Given the description of an element on the screen output the (x, y) to click on. 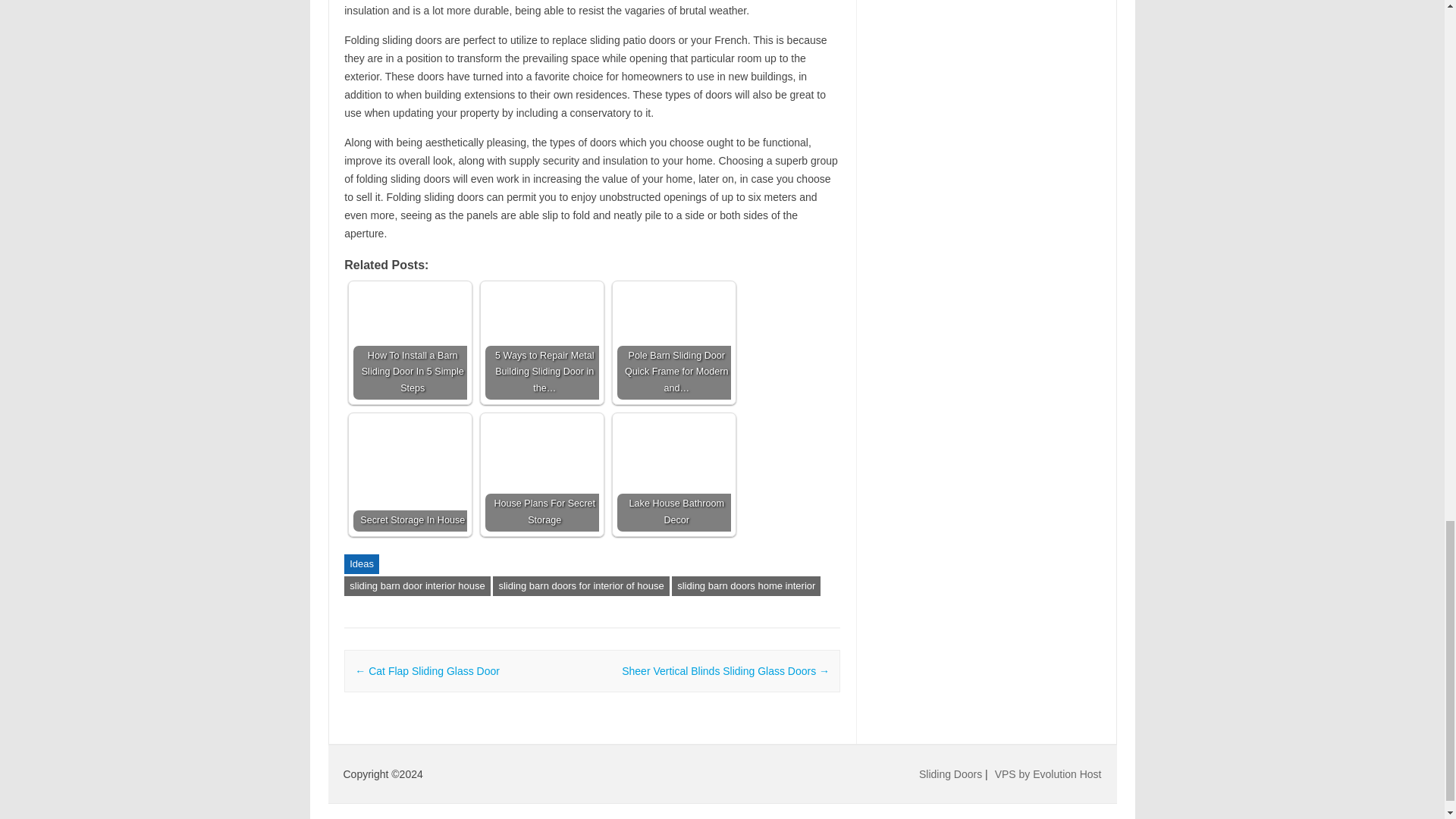
How To Install a Barn Sliding Door In 5 Simple Steps (410, 342)
House Plans For Secret Storage (541, 474)
Lake House Bathroom Decor (673, 474)
sliding barn doors home interior (746, 586)
sliding barn door interior house (416, 586)
Ideas (360, 564)
Secret Storage In House (410, 474)
sliding barn doors for interior of house (580, 586)
